Given the description of an element on the screen output the (x, y) to click on. 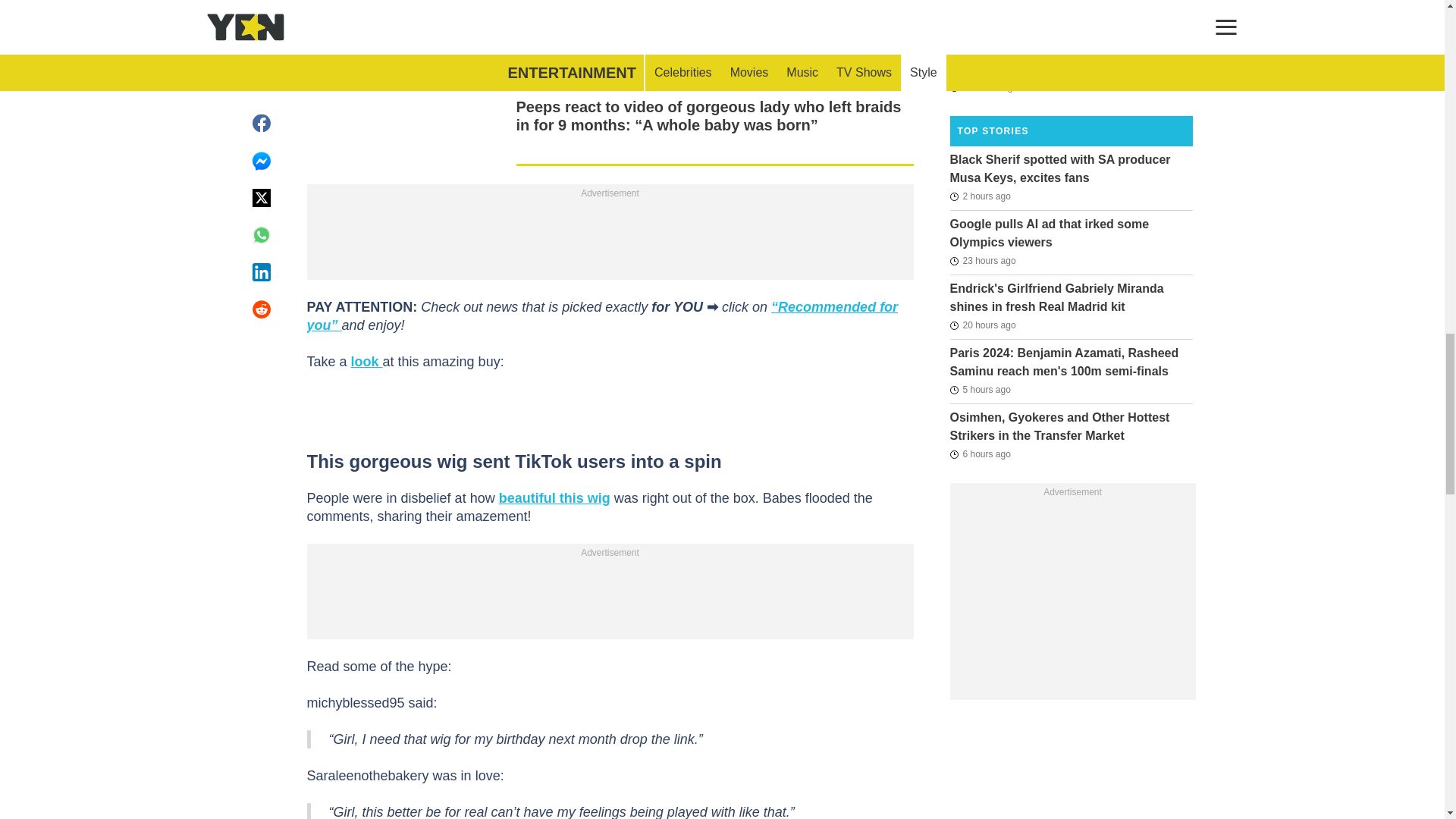
2024-08-03T00:24:28Z (981, 325)
2024-08-03T18:42:54Z (979, 196)
2024-08-03T14:36:09Z (979, 454)
2024-03-05T16:20:49Z (983, 86)
2024-03-01T14:05:50Z (983, 6)
2024-08-02T21:48:04Z (981, 260)
2024-08-03T15:37:53Z (979, 389)
